Given the description of an element on the screen output the (x, y) to click on. 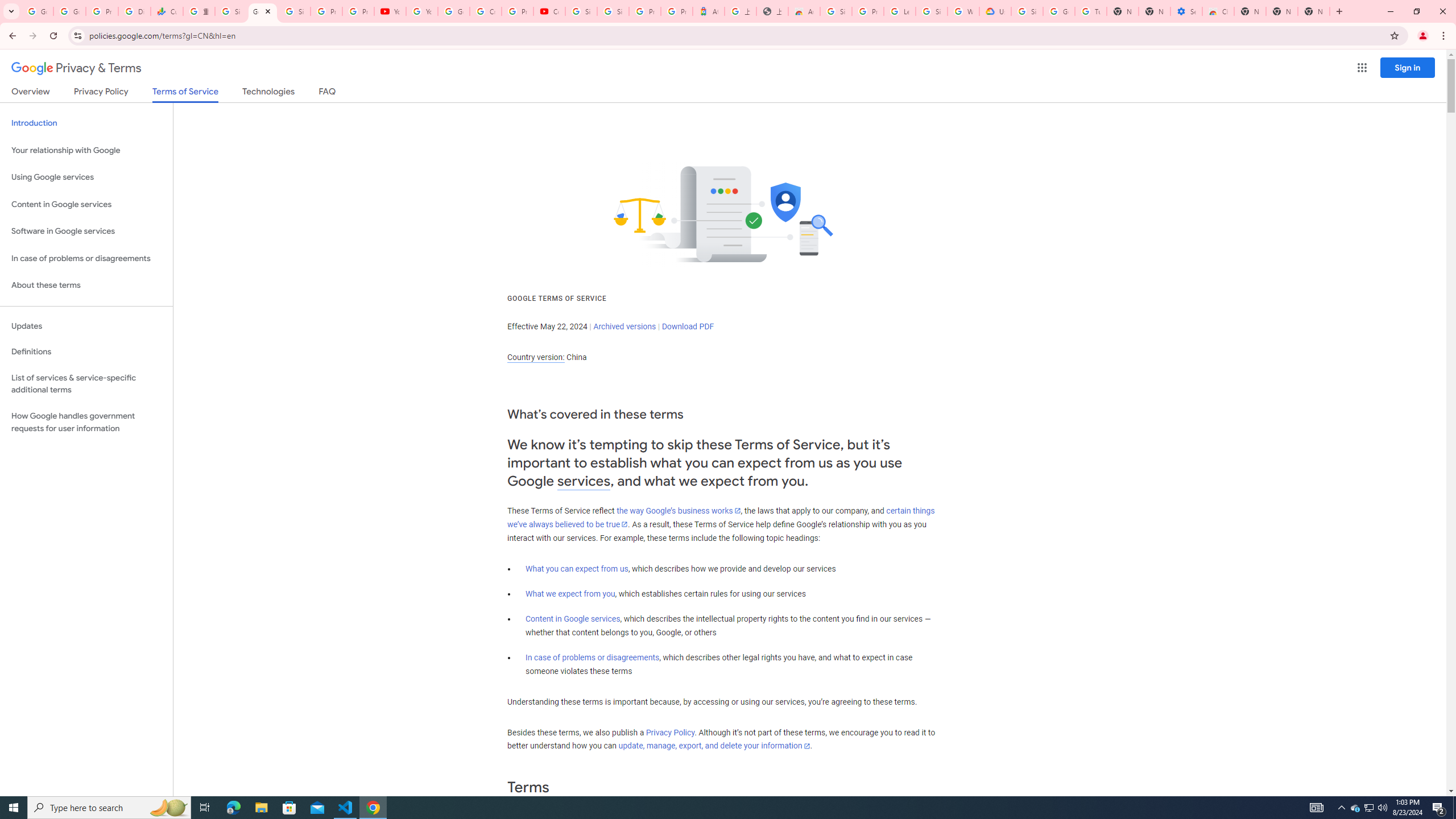
About these terms (86, 284)
Turn cookies on or off - Computer - Google Account Help (1091, 11)
Sign in - Google Accounts (1027, 11)
Currencies - Google Finance (166, 11)
Google Account Help (453, 11)
Chrome Web Store - Accessibility extensions (1217, 11)
Sign in - Google Accounts (230, 11)
New Tab (1313, 11)
Who are Google's partners? - Privacy and conditions - Google (963, 11)
